Given the description of an element on the screen output the (x, y) to click on. 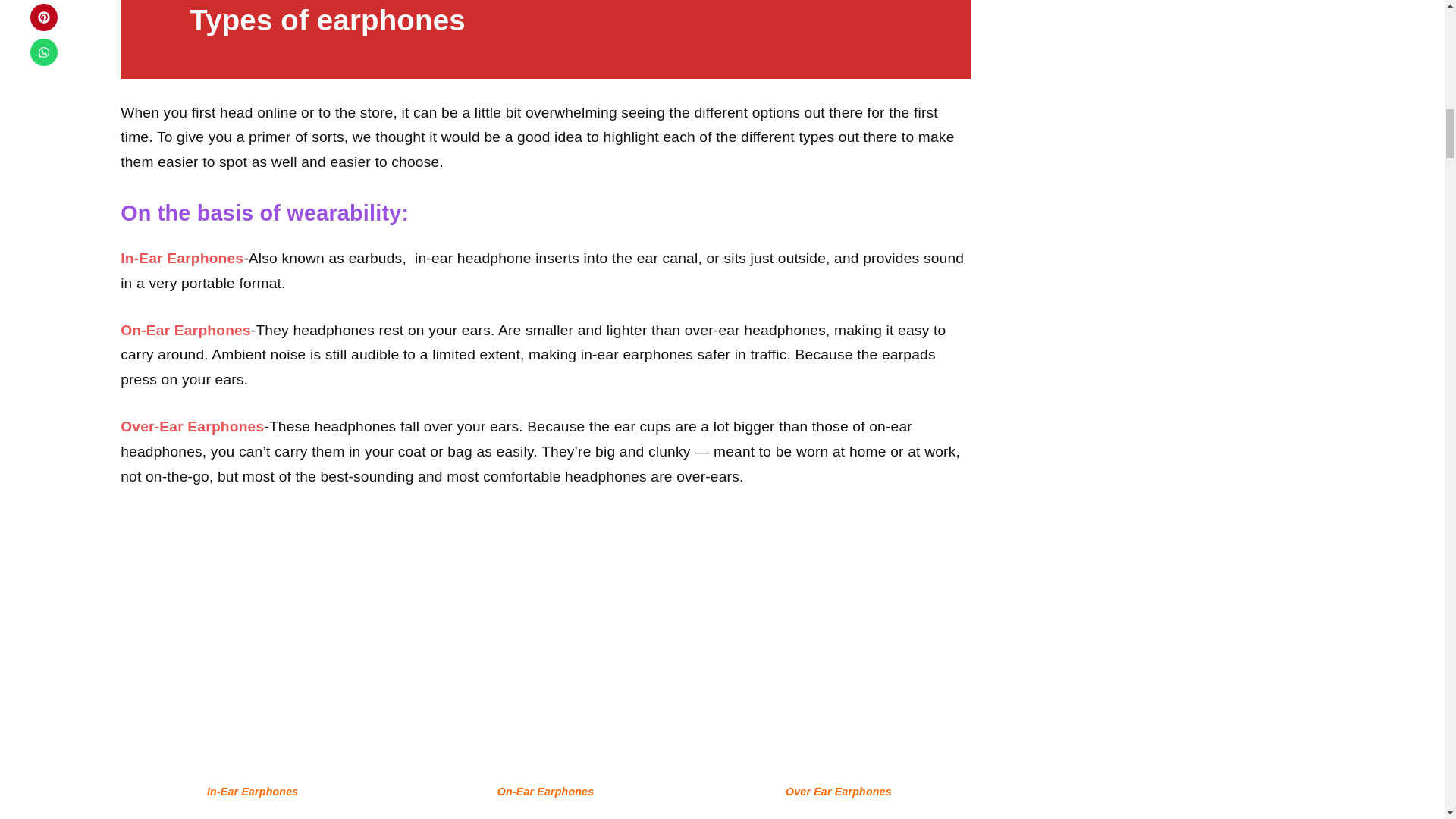
Best Selling and Top Trending WIRELESS HEADPHONES 3 (838, 643)
Best Selling and Top Trending WIRELESS HEADPHONES 2 (545, 643)
Best Selling and Top Trending WIRELESS HEADPHONES 1 (252, 643)
